Given the description of an element on the screen output the (x, y) to click on. 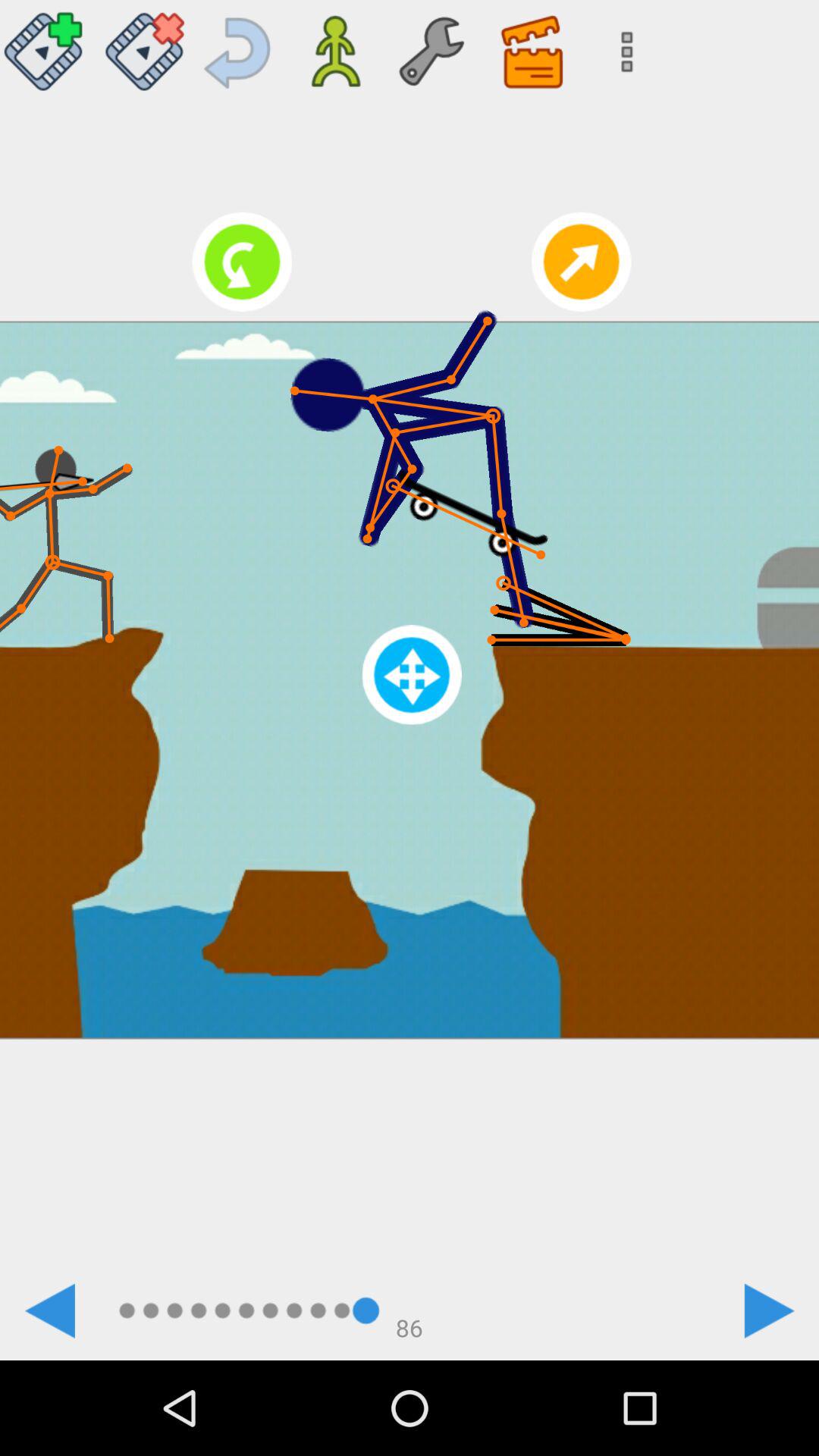
go to setting (430, 45)
